Given the description of an element on the screen output the (x, y) to click on. 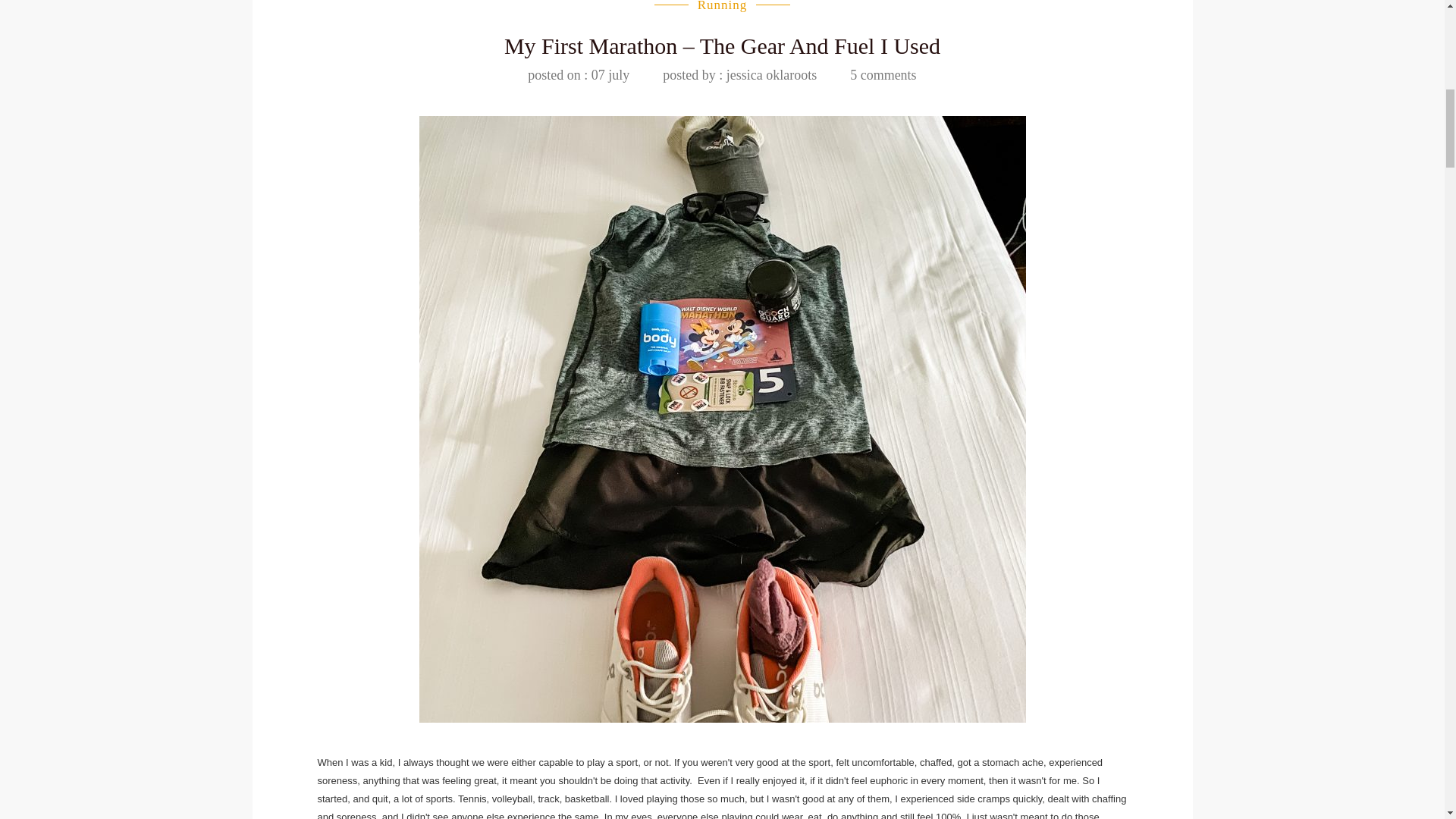
07 july (577, 74)
jessica oklaroots (739, 74)
5 comments (883, 74)
Running (722, 6)
